Given the description of an element on the screen output the (x, y) to click on. 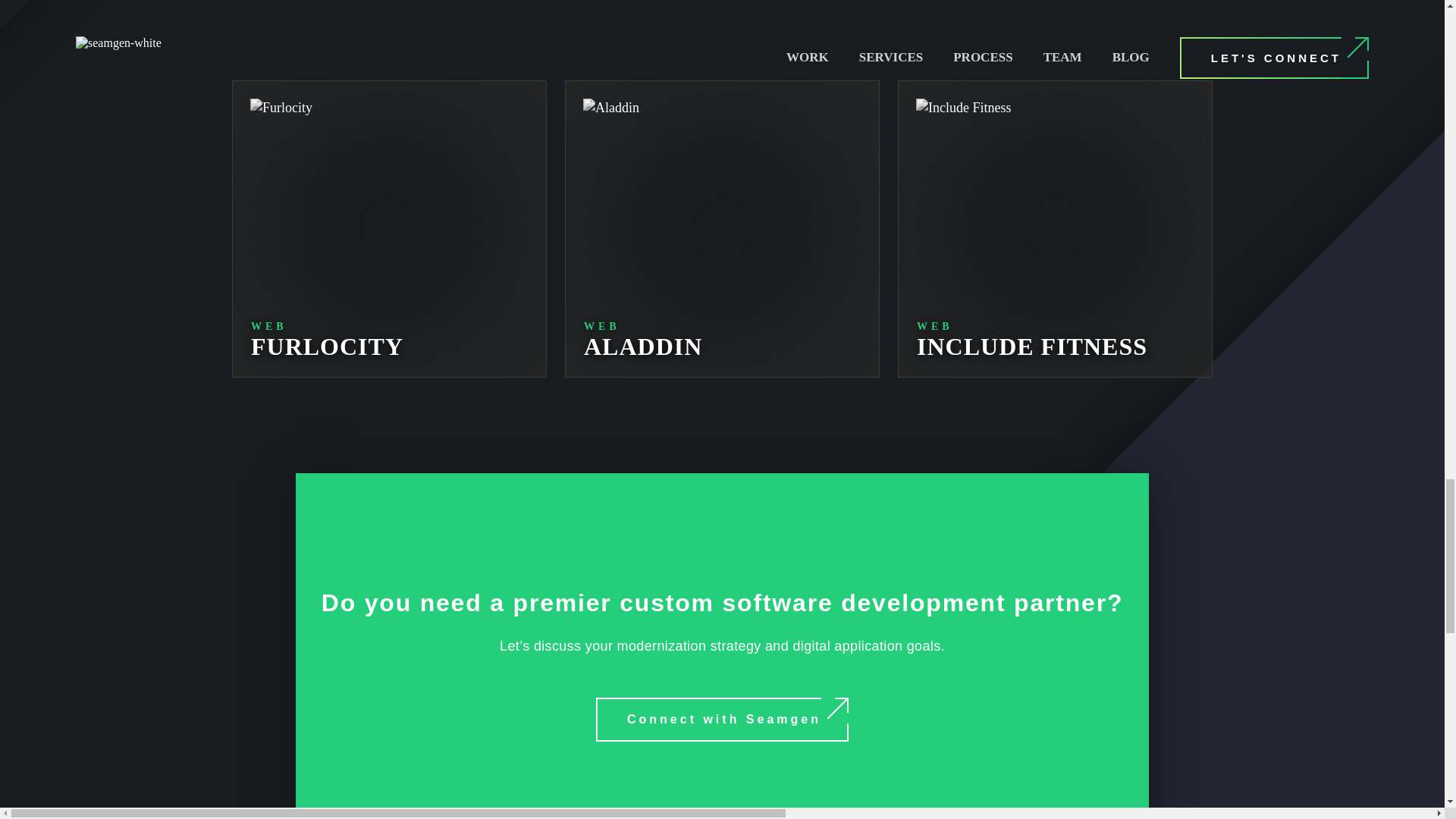
Connect with Seamgen (721, 719)
